Given the description of an element on the screen output the (x, y) to click on. 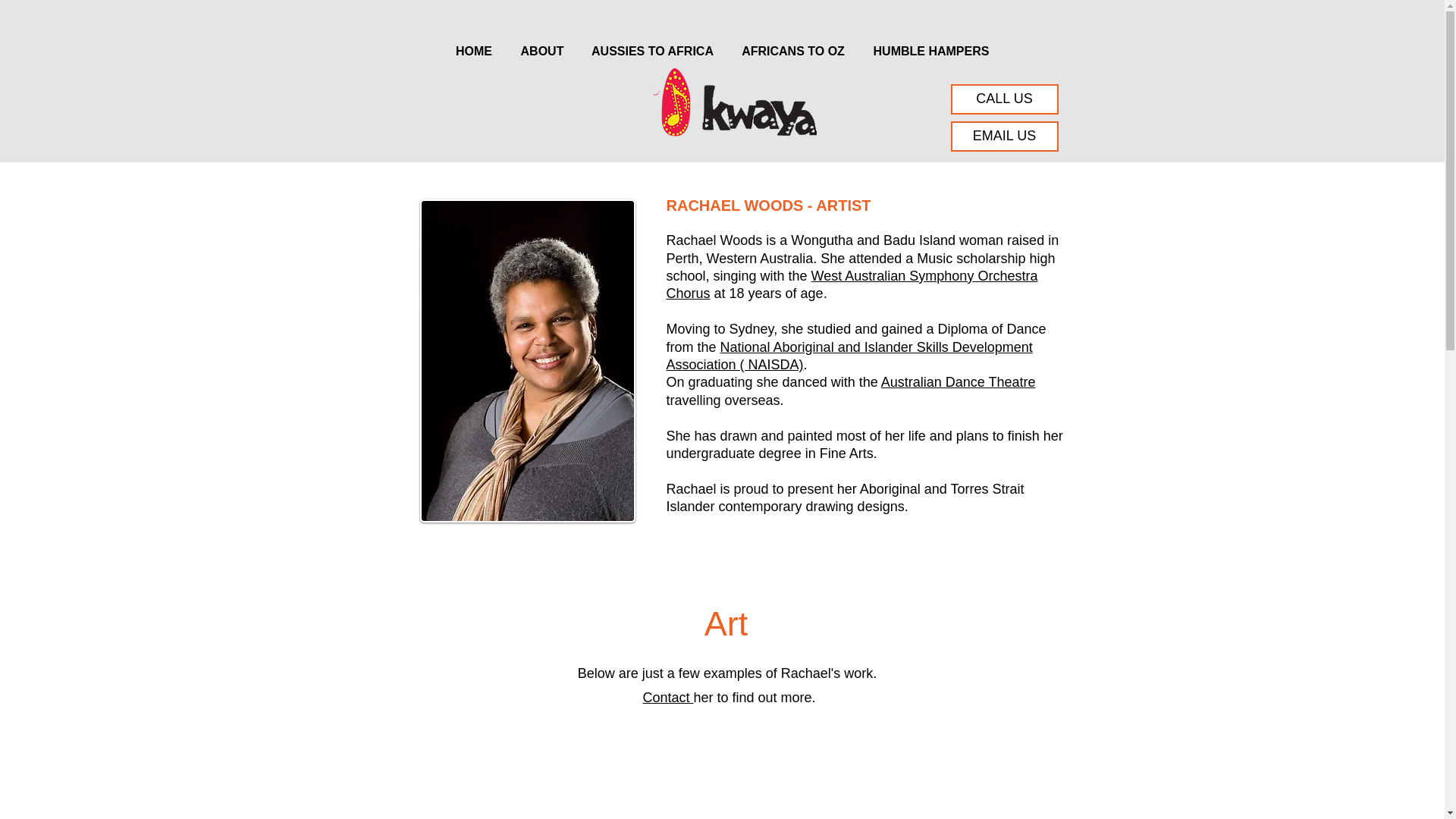
HOME (473, 44)
West Australian Symphony Orchestra Chorus (850, 284)
HUMBLE HAMPERS (931, 44)
CALL US (1004, 99)
Australian Dance Theatre (957, 381)
EMAIL US (1004, 136)
AFRICANS TO OZ (792, 44)
AUSSIES TO AFRICA (652, 44)
Contact (667, 697)
ABOUT (542, 44)
